Given the description of an element on the screen output the (x, y) to click on. 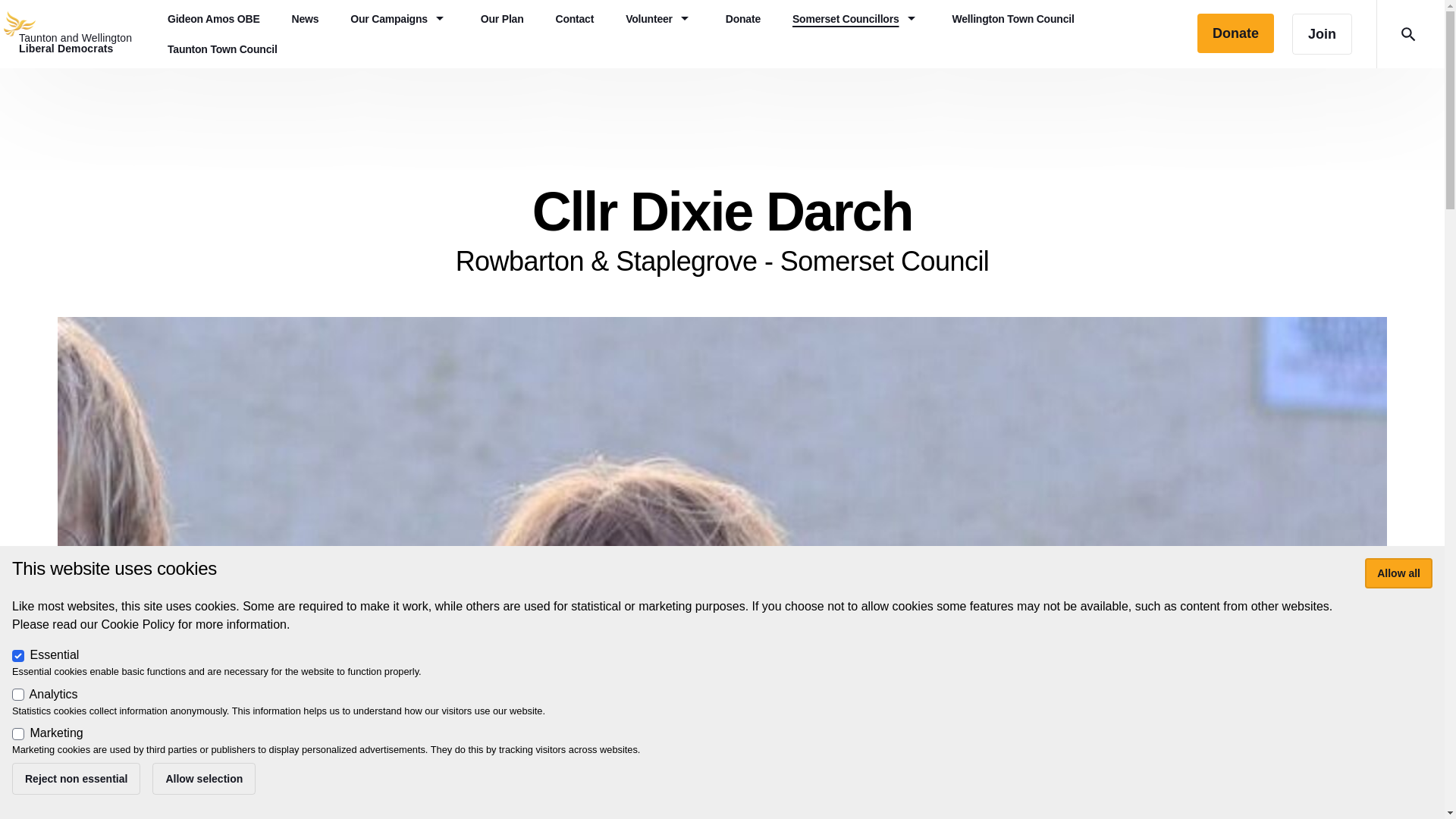
Our Campaigns (399, 19)
Donate (1235, 33)
1 (17, 734)
News (305, 19)
Allow all (75, 33)
Our Plan (1398, 572)
1 (502, 19)
Somerset Councillors (17, 694)
Allow selection (856, 19)
Allow all (204, 778)
Return to home page (1398, 572)
Taunton Town Council (75, 33)
Reject non essential (222, 49)
Donate (75, 778)
